Given the description of an element on the screen output the (x, y) to click on. 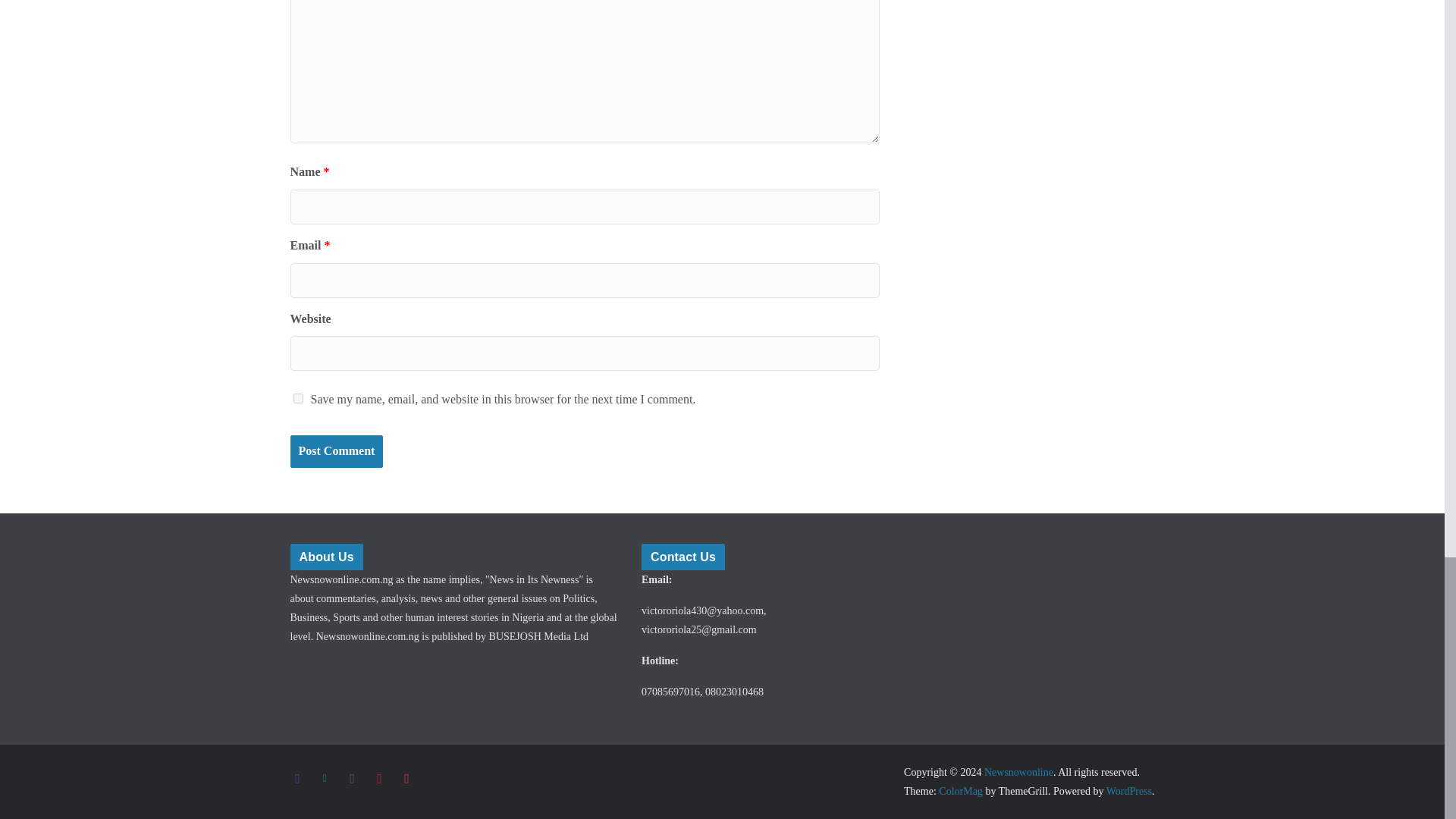
Post Comment (335, 450)
yes (297, 398)
